Given the description of an element on the screen output the (x, y) to click on. 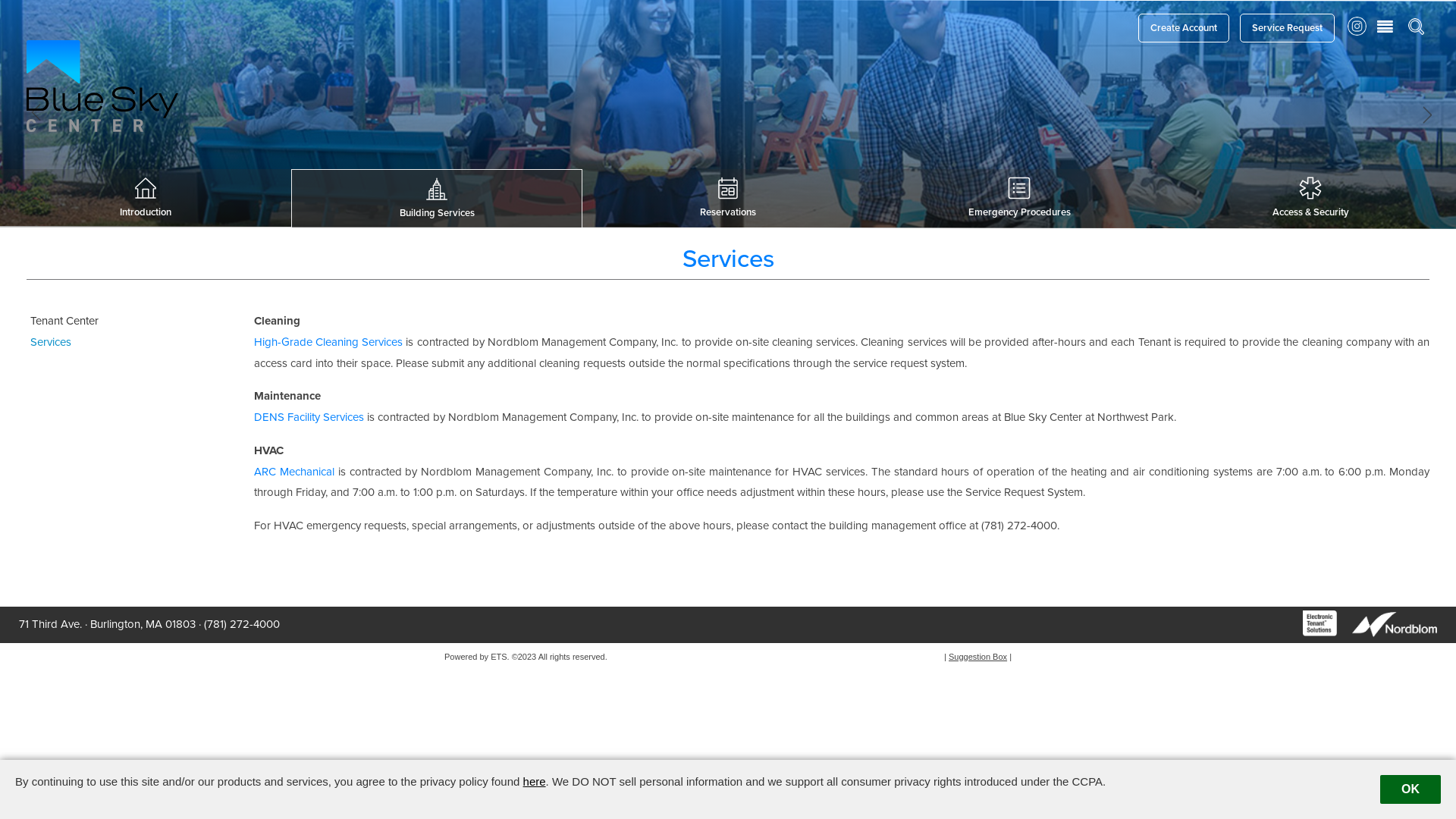
Reservations Element type: text (727, 197)
High-Grade Cleaning Services Element type: text (328, 341)
Suggestion Box Element type: text (977, 656)
here Element type: text (534, 781)
(781) 272-4000 Element type: text (241, 623)
DENS Facility Services Element type: text (309, 416)
Create Account Element type: text (1183, 27)
Powered by ETS. Element type: text (476, 656)
ARC Mechanical Element type: text (294, 470)
Services Element type: text (121, 342)
Service Request Element type: text (1286, 27)
Emergency Procedures Element type: text (1018, 197)
Tenant Center Element type: text (121, 321)
Introduction Element type: text (145, 197)
Building Services Element type: text (436, 198)
